Given the description of an element on the screen output the (x, y) to click on. 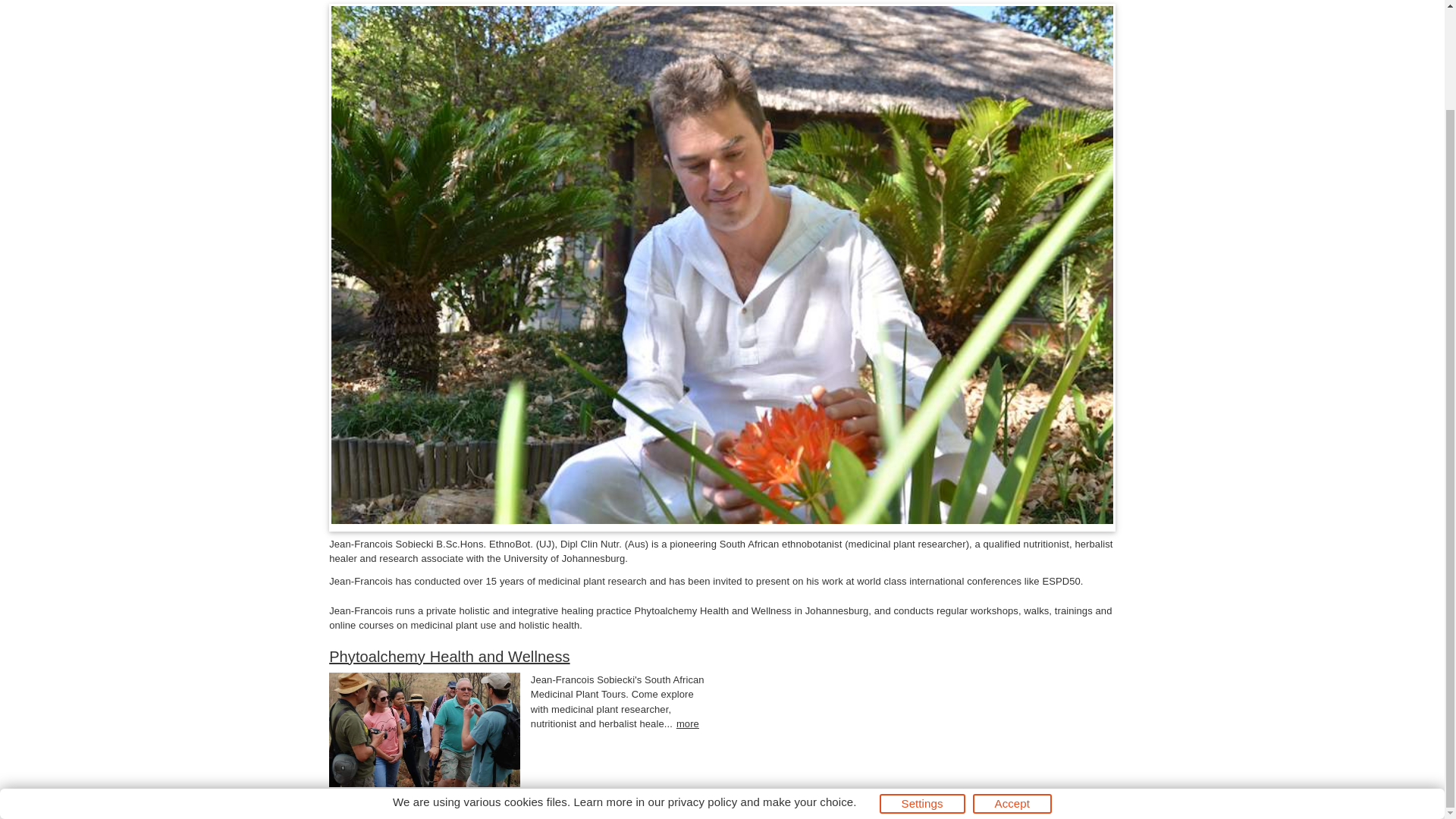
more (687, 723)
Settings (922, 688)
Accept (1011, 688)
privacy policy (702, 685)
Phytoalchemy Health and Wellness (449, 656)
